Given the description of an element on the screen output the (x, y) to click on. 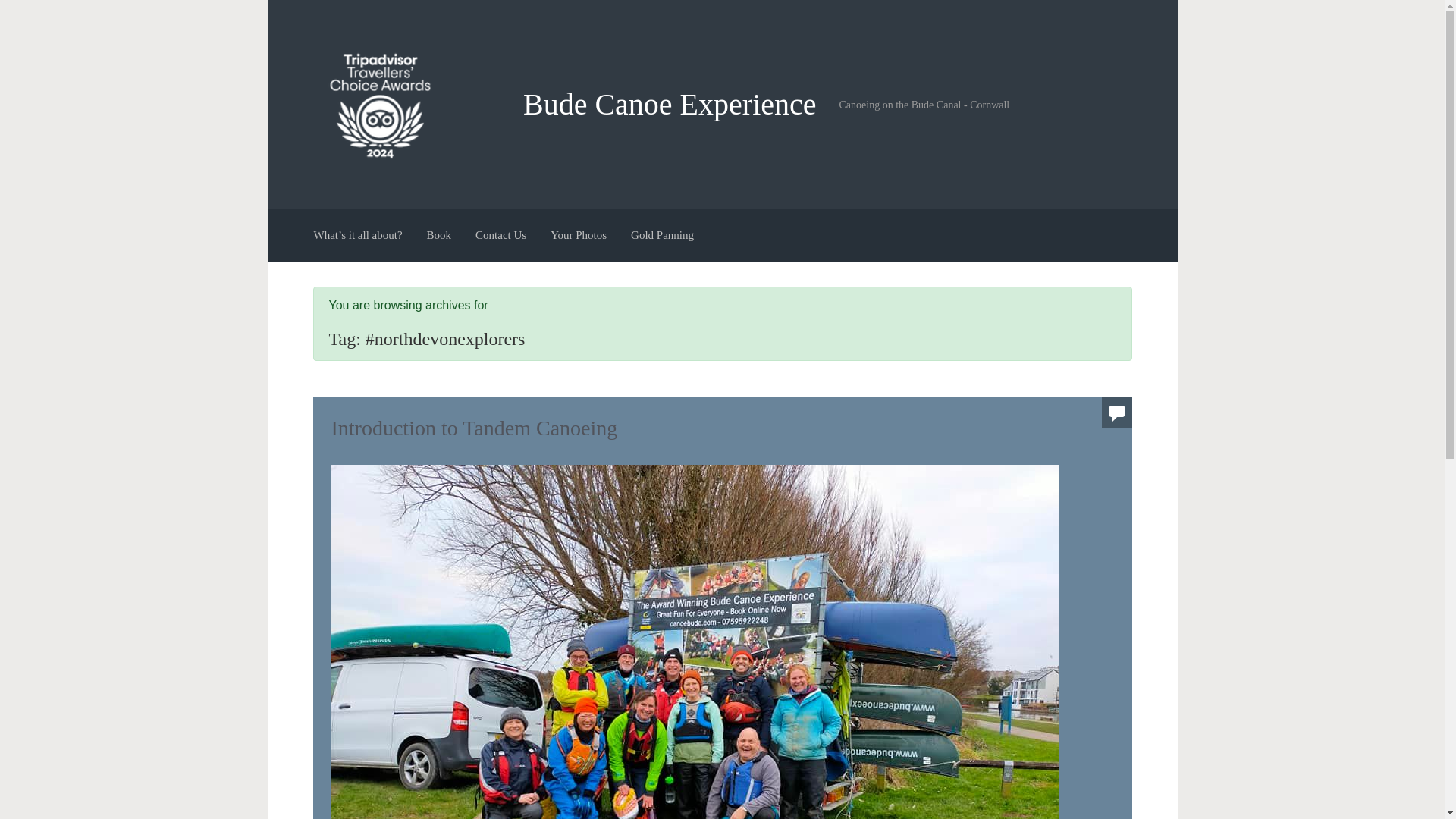
Gold Panning (662, 235)
Skip to main content (17, 8)
Your Photos (578, 235)
Contact Us (500, 235)
Book (439, 235)
Introduction to Tandem Canoeing (473, 426)
Bude Canoe Experience (669, 103)
